Given the description of an element on the screen output the (x, y) to click on. 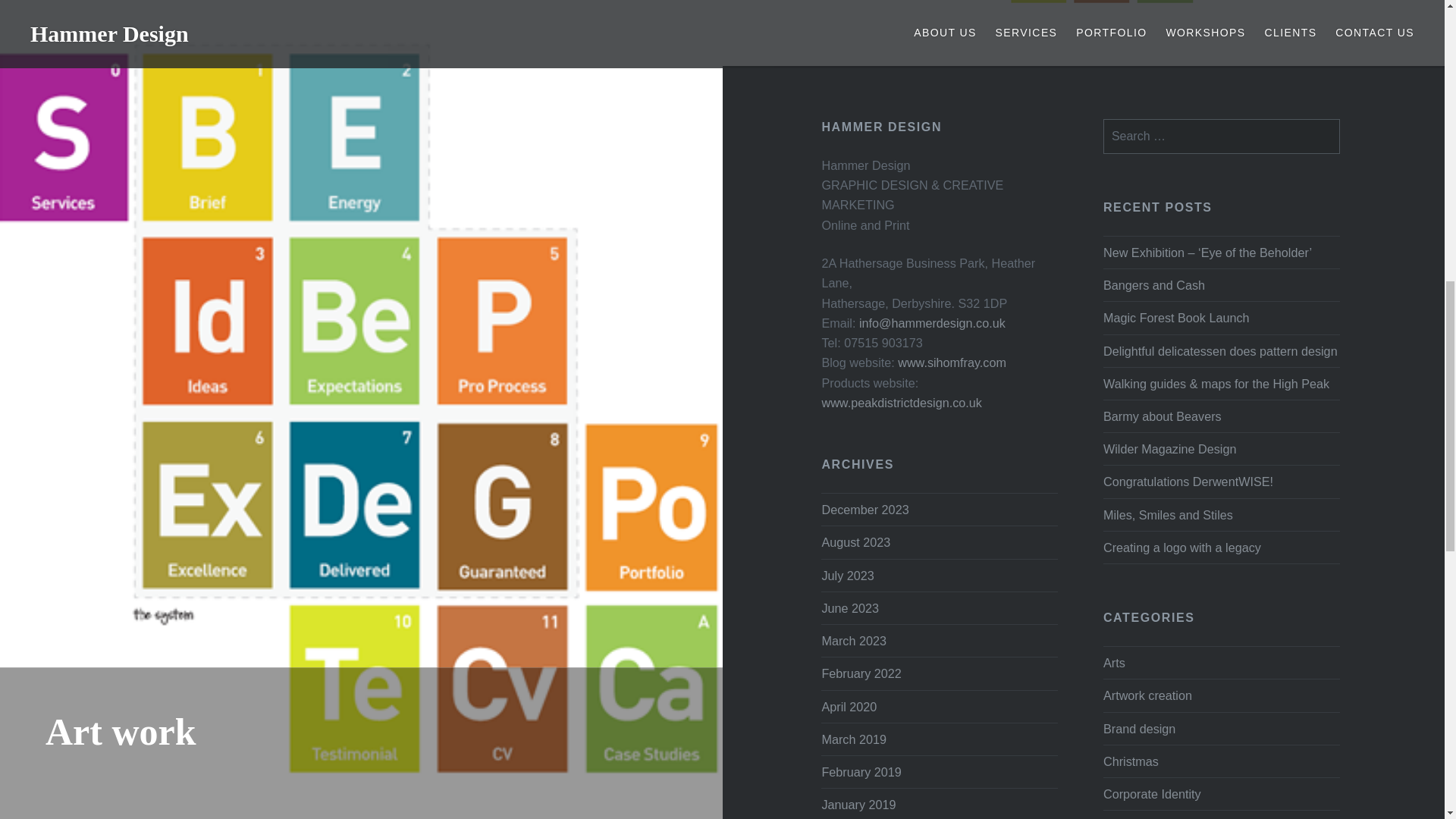
February 2022 (861, 673)
December 2023 (864, 509)
Bangers and Cash (1221, 284)
March 2023 (853, 640)
Delightful delicatessen does pattern design (1221, 351)
Creating a logo with a legacy (1221, 547)
July 2023 (847, 575)
Congratulations DerwentWISE! (1221, 481)
www.peakdistrictdesign.co.uk (901, 402)
Magic Forest Book Launch (1221, 317)
June 2023 (850, 608)
April 2020 (848, 706)
Wilder Magazine Design (1221, 448)
Miles, Smiles and Stiles (1221, 514)
www.sihomfray.com (952, 362)
